Given the description of an element on the screen output the (x, y) to click on. 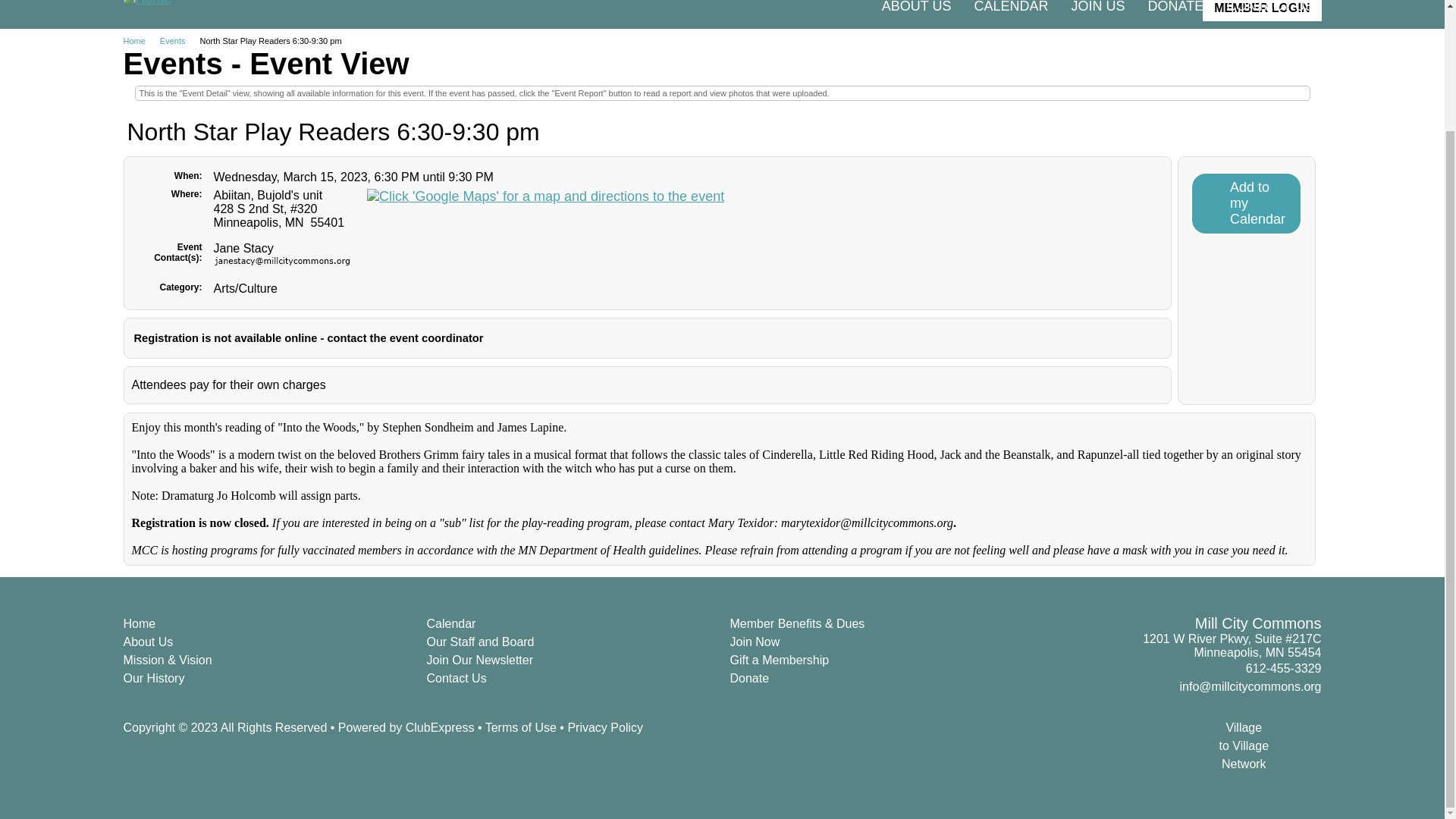
Events (178, 40)
Home (138, 40)
CONTACT US (1269, 10)
Click 'Google Maps' for a map and directions to the event (544, 196)
Add to my Calendar (1246, 203)
Visit us on Facebook (1288, 744)
Click here for more sharing options (1312, 744)
CALENDAR (1010, 10)
MEMBER LOGIN (1261, 10)
JOIN US (1097, 10)
